Given the description of an element on the screen output the (x, y) to click on. 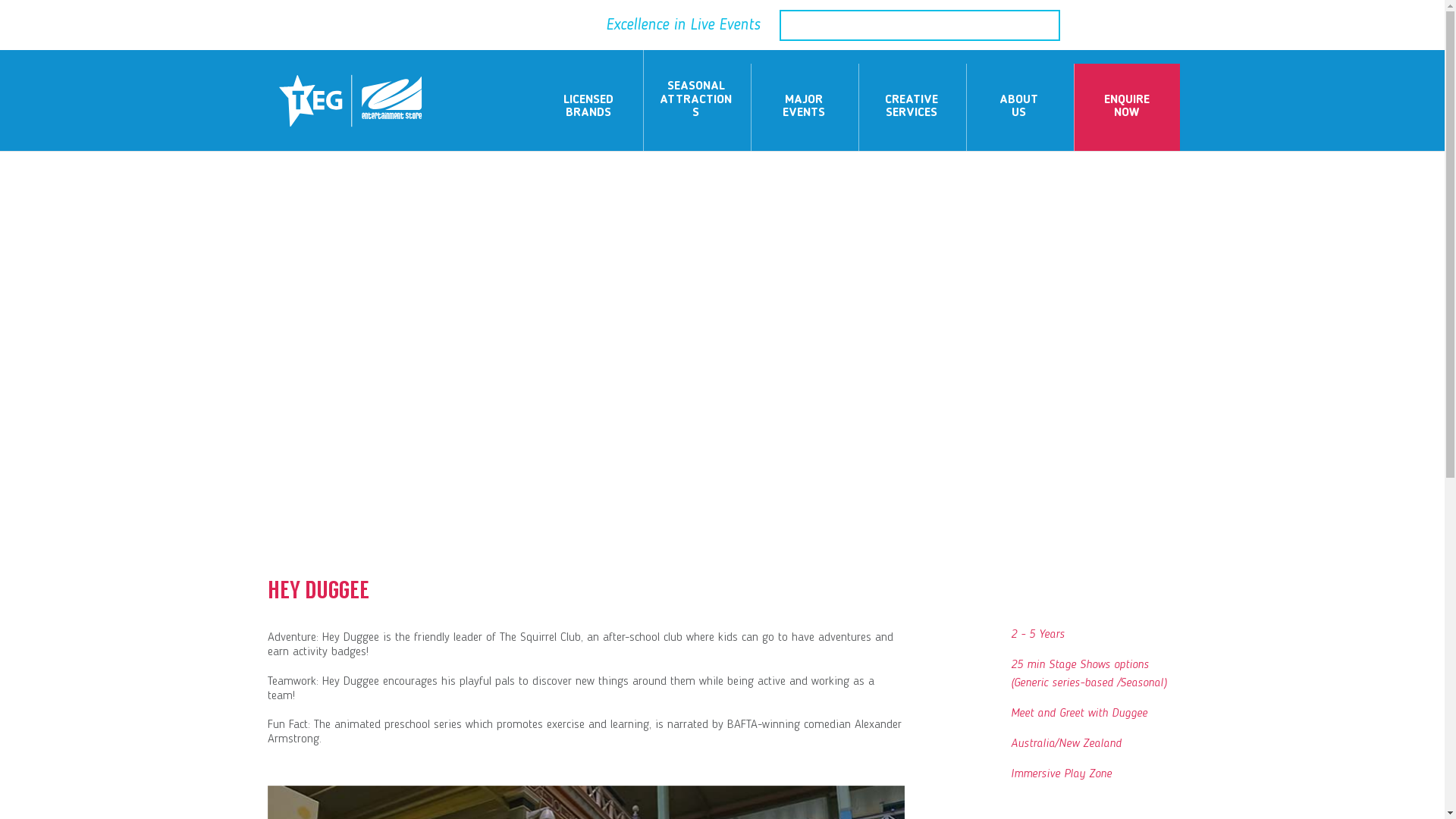
SEASONAL ATTRACTIONS Element type: text (696, 100)
ABOUT US Element type: text (1019, 106)
Search for: Element type: hover (919, 24)
LICENSED BRANDS Element type: text (588, 106)
MAJOR EVENTS Element type: text (803, 106)
CREATIVE SERVICES Element type: text (911, 106)
ENQUIRE NOW Element type: text (1126, 106)
